Given the description of an element on the screen output the (x, y) to click on. 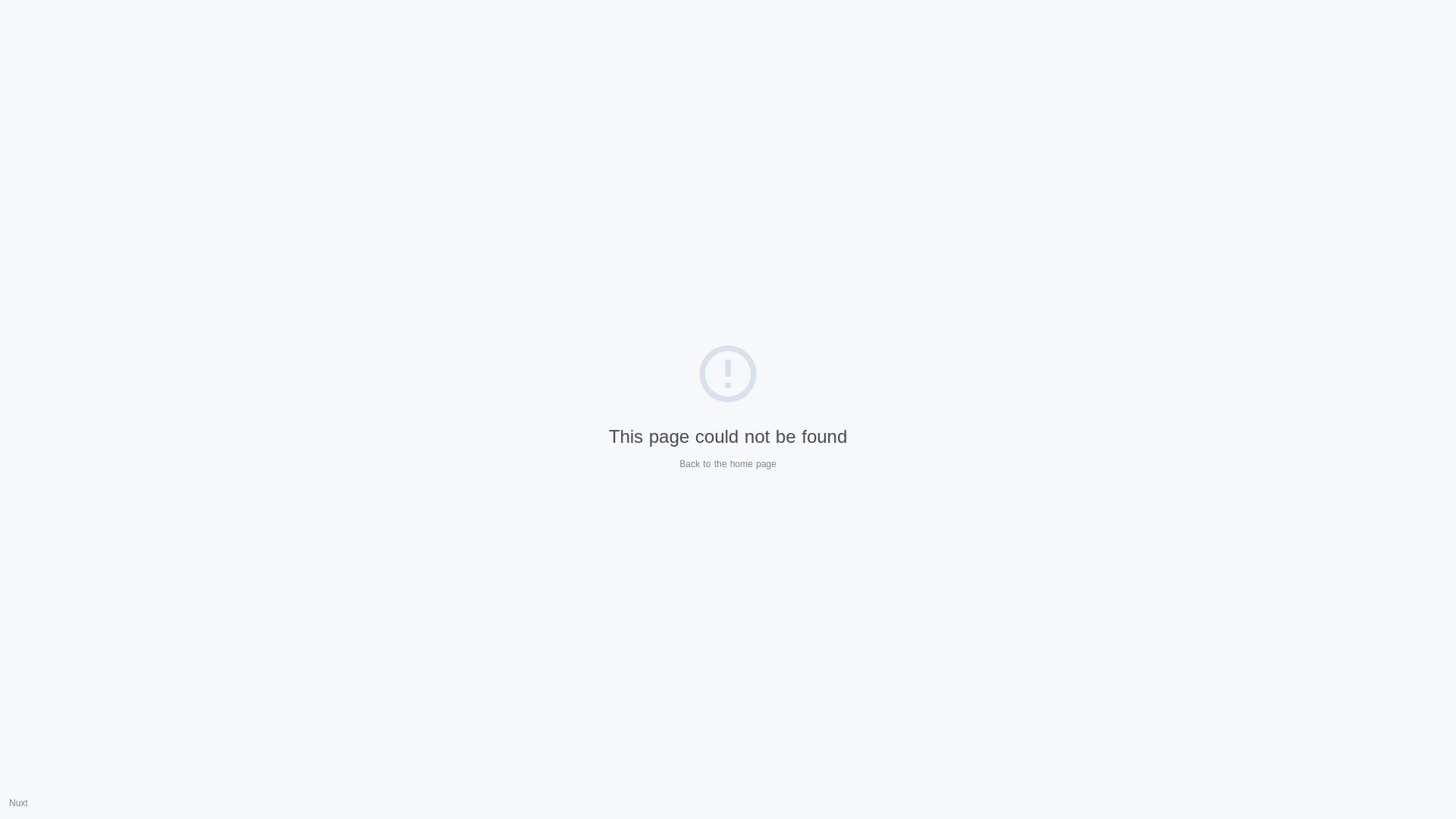
Back to the home page Element type: text (727, 463)
Nuxt Element type: text (18, 802)
